Given the description of an element on the screen output the (x, y) to click on. 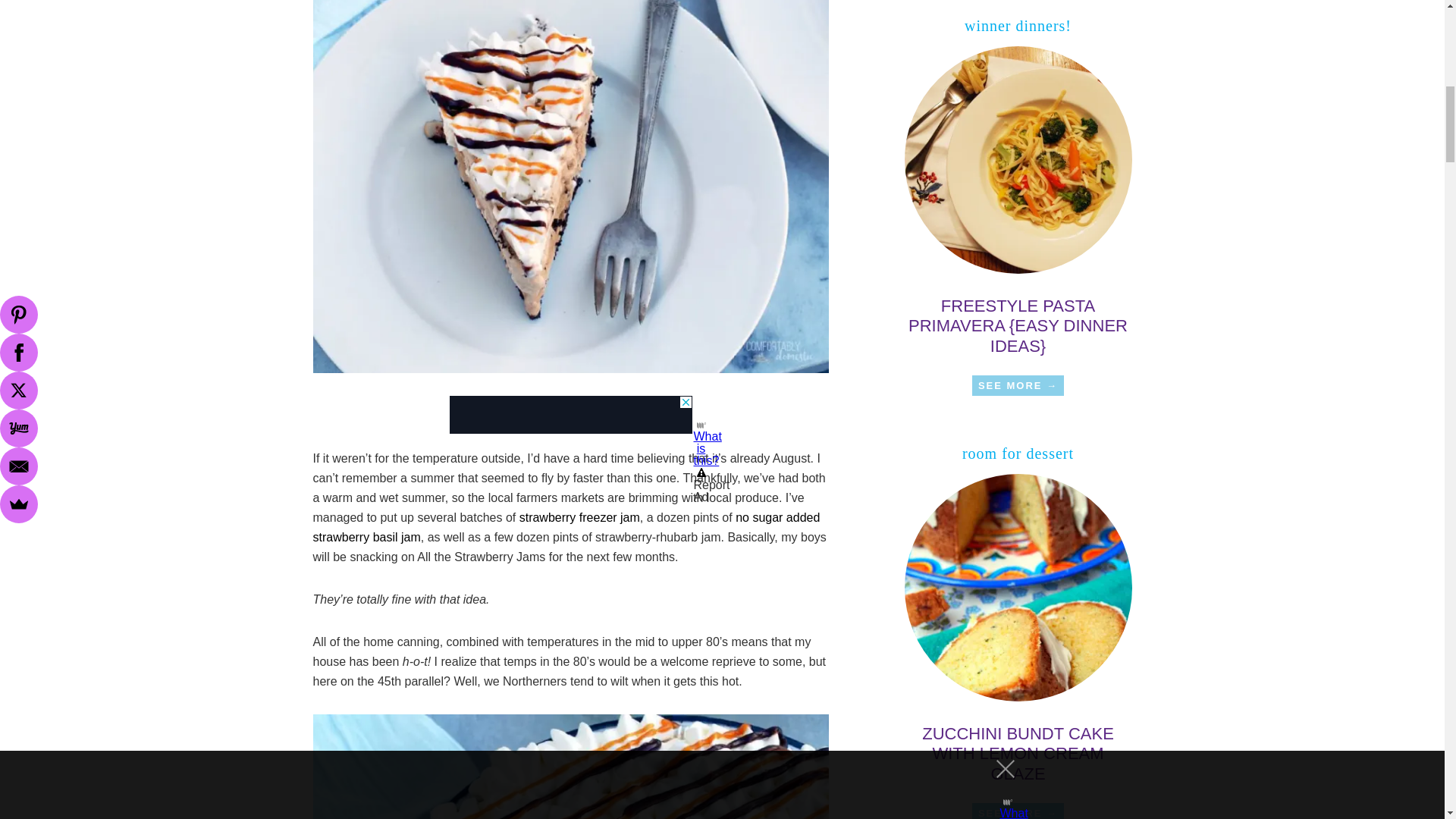
Dinner (1018, 385)
Zucchini Bundt Cake with Lemon Cream Glaze (1017, 590)
3rd party ad content (569, 414)
strawberry freezer jam (579, 517)
no sugar added strawberry basil jam (566, 527)
